Given the description of an element on the screen output the (x, y) to click on. 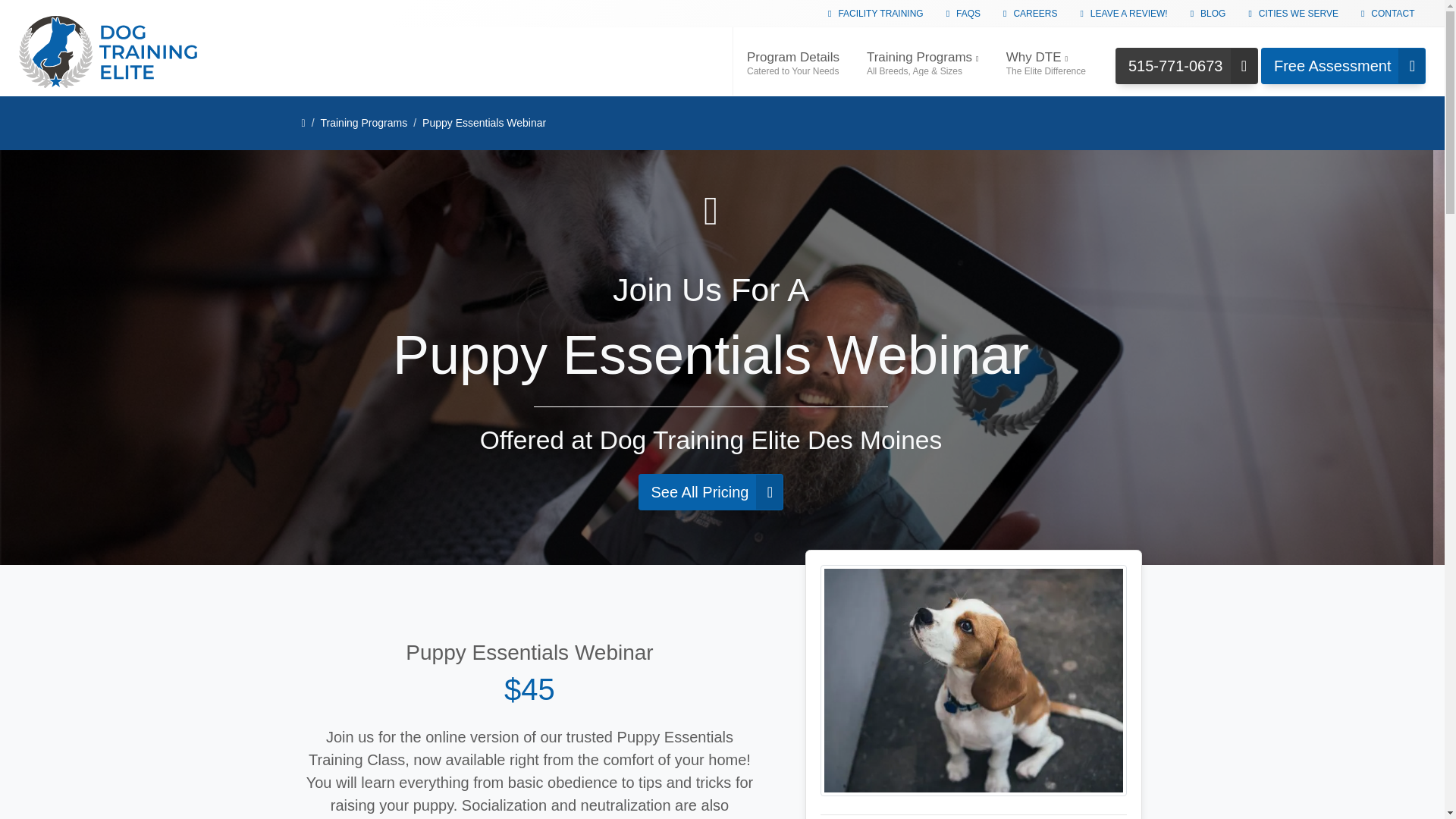
515-771-0673 (1186, 65)
FACILITY TRAINING (875, 13)
Puppy Training Classes Webinar (973, 680)
CONTACT (1387, 13)
Dog Training Elite Des Moines - Pricing (711, 492)
CITIES WE SERVE (1292, 13)
LEAVE A REVIEW! (1122, 13)
CAREERS (792, 61)
BLOG (1029, 13)
Free Assessment (1208, 13)
FAQS (1343, 65)
